Given the description of an element on the screen output the (x, y) to click on. 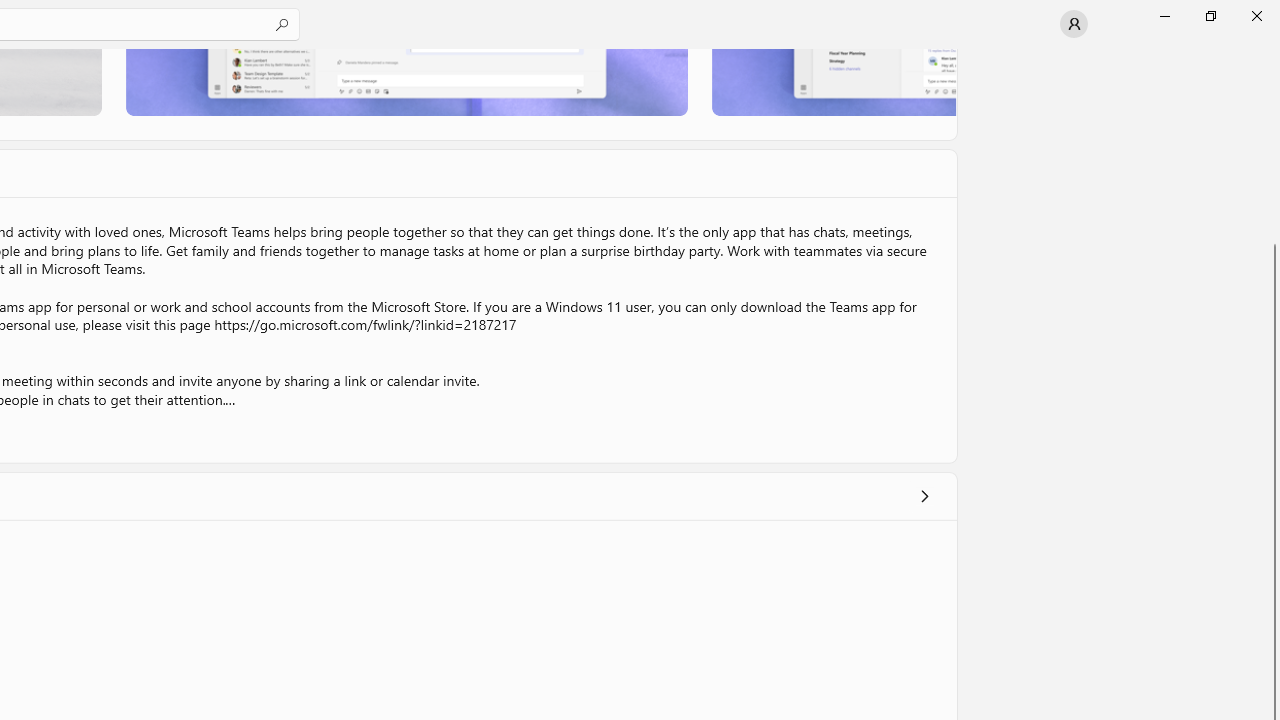
Vertical Small Decrease (1272, 55)
Screenshot 2 (406, 81)
Minimize Microsoft Store (1164, 15)
Screenshot 3 (833, 81)
Restore Microsoft Store (1210, 15)
Show all ratings and reviews (924, 495)
User profile (1073, 24)
Vertical Large Decrease (1272, 150)
Close Microsoft Store (1256, 15)
